Given the description of an element on the screen output the (x, y) to click on. 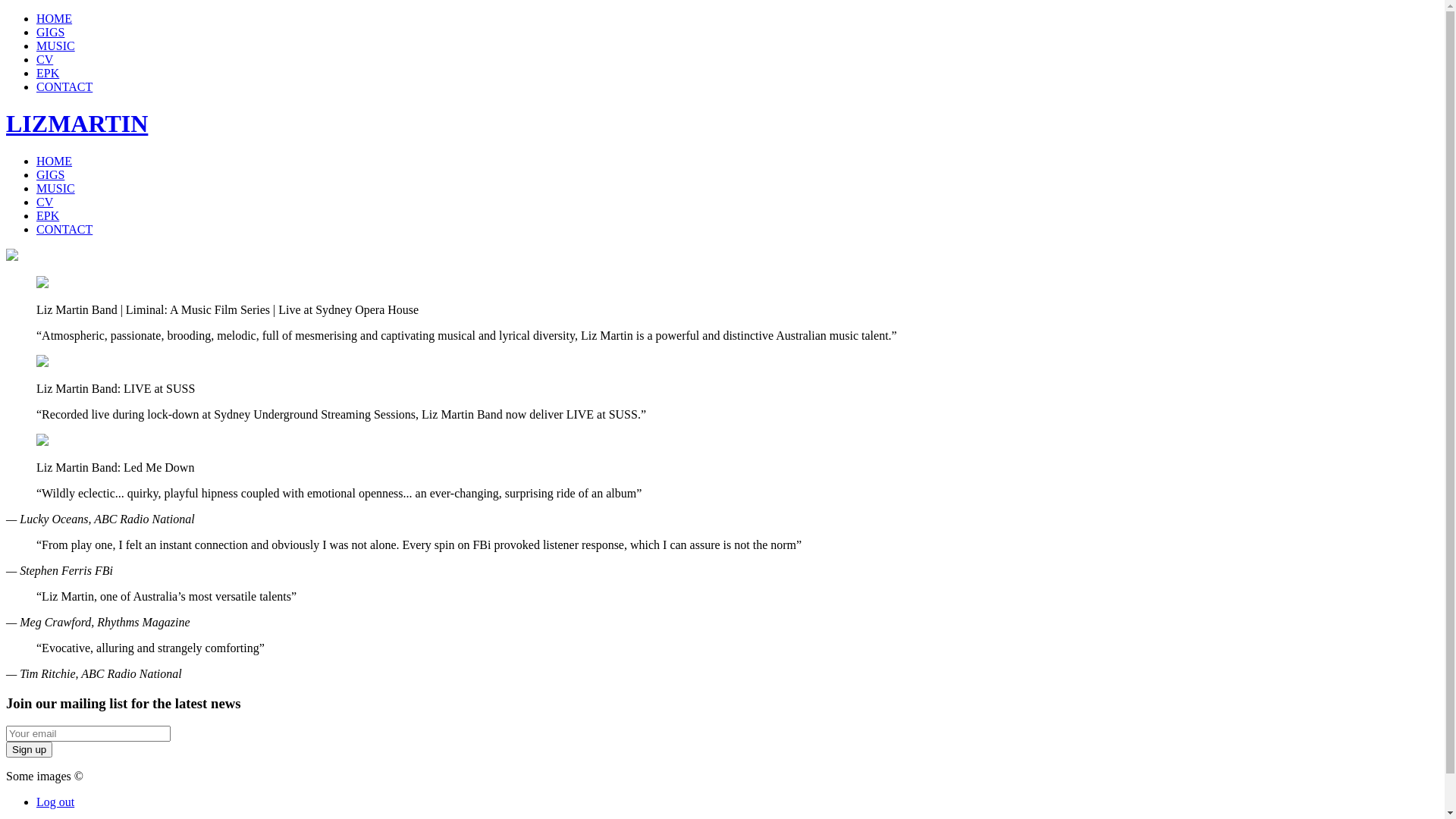
CONTACT Element type: text (64, 228)
HOME Element type: text (54, 160)
EPK Element type: text (47, 215)
CONTACT Element type: text (64, 86)
Sign up Element type: text (29, 749)
EPK Element type: text (47, 72)
CV Element type: text (44, 201)
MUSIC Element type: text (55, 45)
GIGS Element type: text (50, 31)
HOME Element type: text (54, 18)
Log out Element type: text (55, 801)
CV Element type: text (44, 59)
GIGS Element type: text (50, 174)
MUSIC Element type: text (55, 188)
LIZMARTIN Element type: text (76, 123)
